Given the description of an element on the screen output the (x, y) to click on. 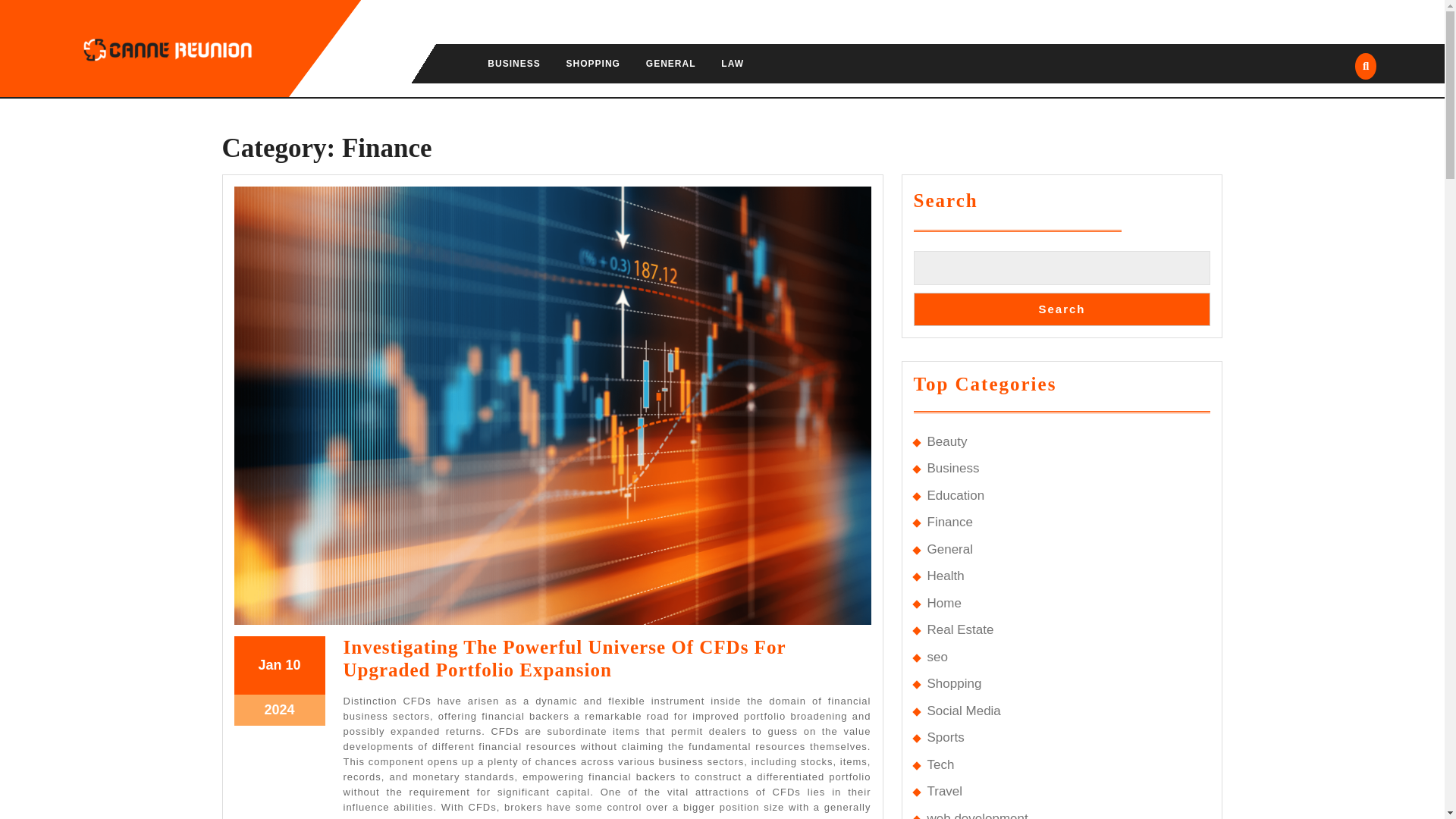
Business (952, 468)
Shopping (953, 683)
Real Estate (525, 772)
GENERAL (959, 629)
Education (670, 63)
Social Media (955, 495)
Home (963, 710)
seo (943, 603)
General (936, 657)
Search (949, 549)
Finance (1060, 309)
BUSINESS (526, 774)
Health (949, 522)
